Given the description of an element on the screen output the (x, y) to click on. 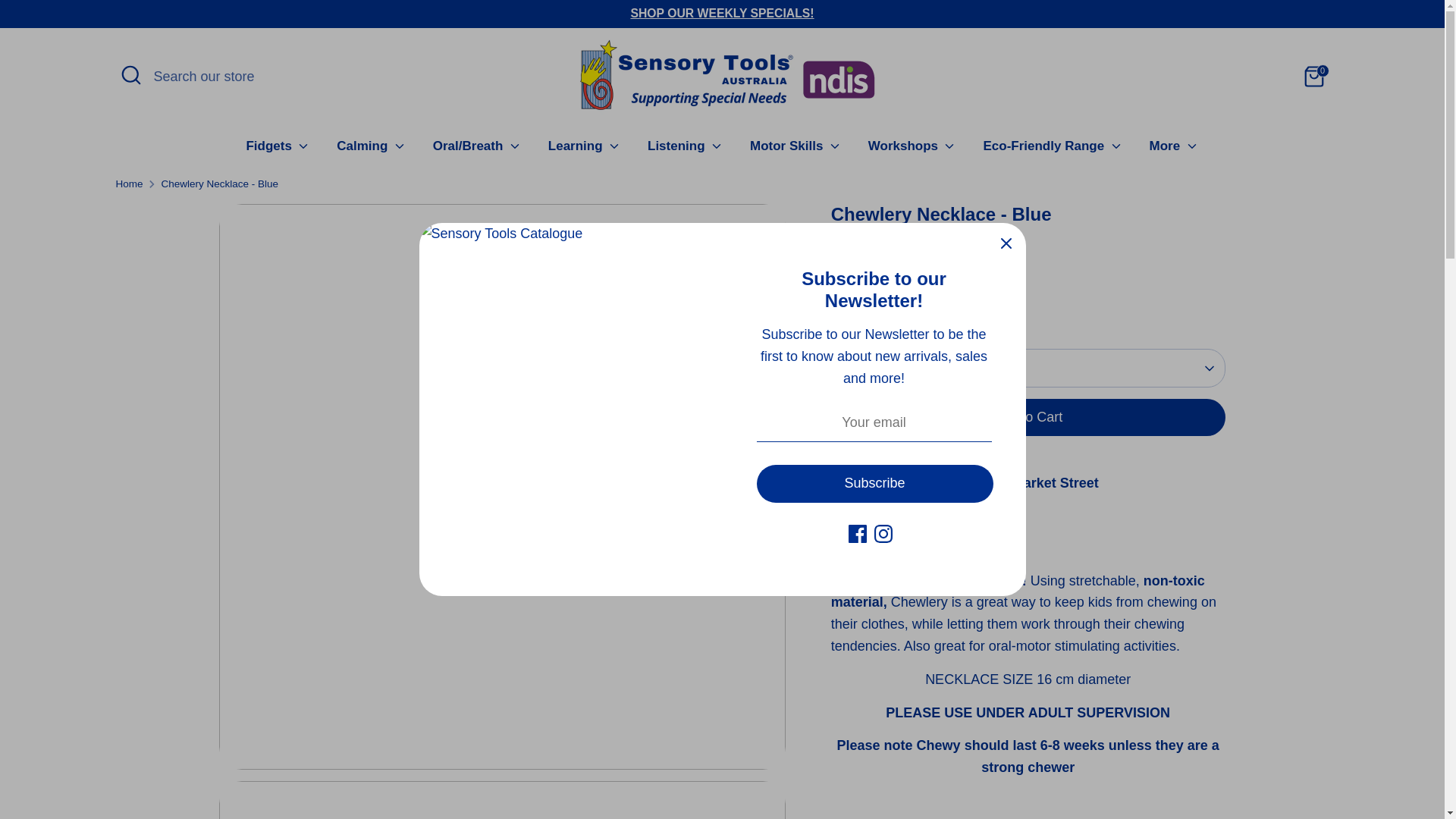
SHOP OUR WEEKLY SPECIALS! (721, 12)
0 (1312, 76)
